Given the description of an element on the screen output the (x, y) to click on. 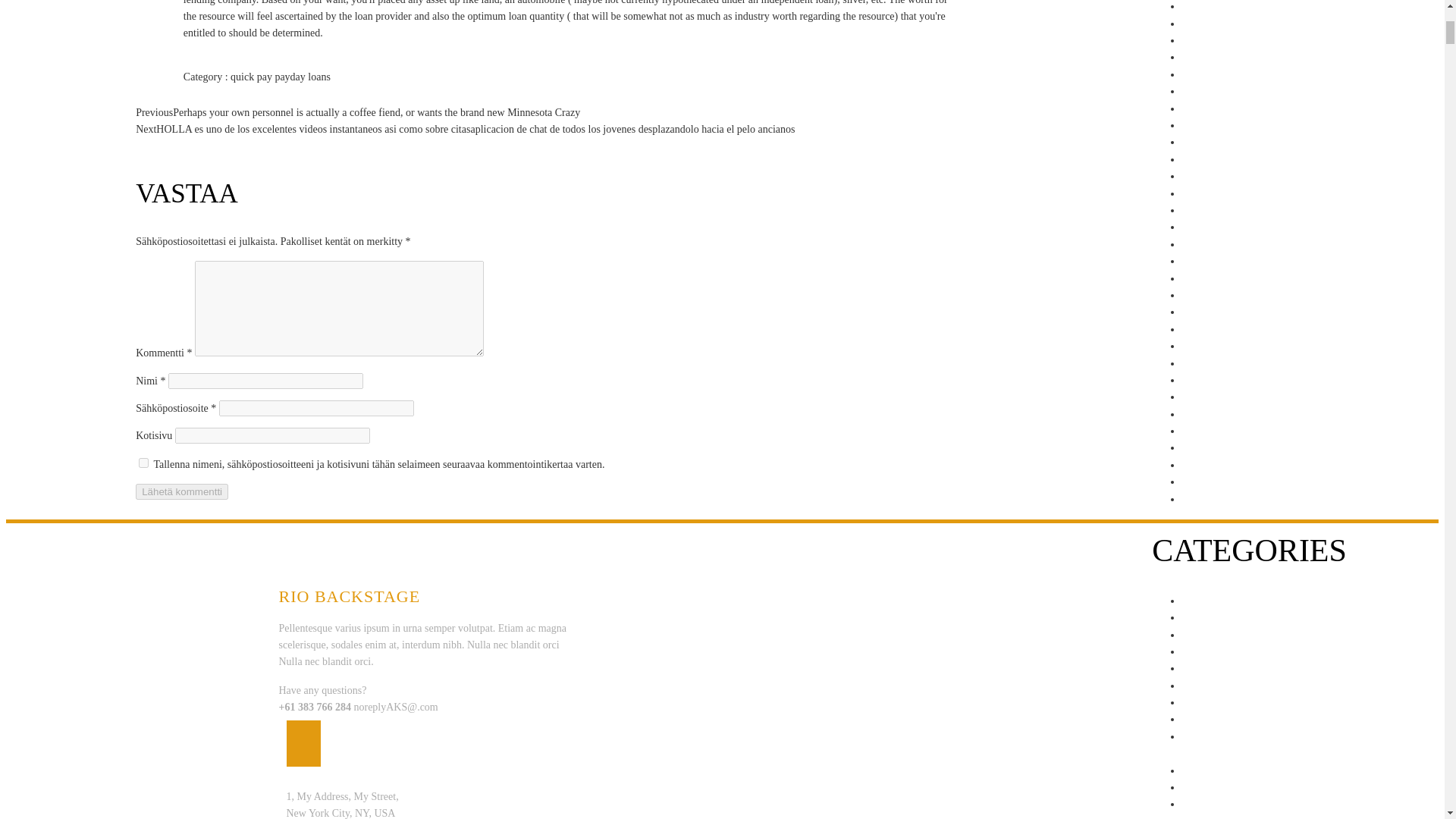
yes (143, 462)
quick pay payday loans (280, 76)
